Given the description of an element on the screen output the (x, y) to click on. 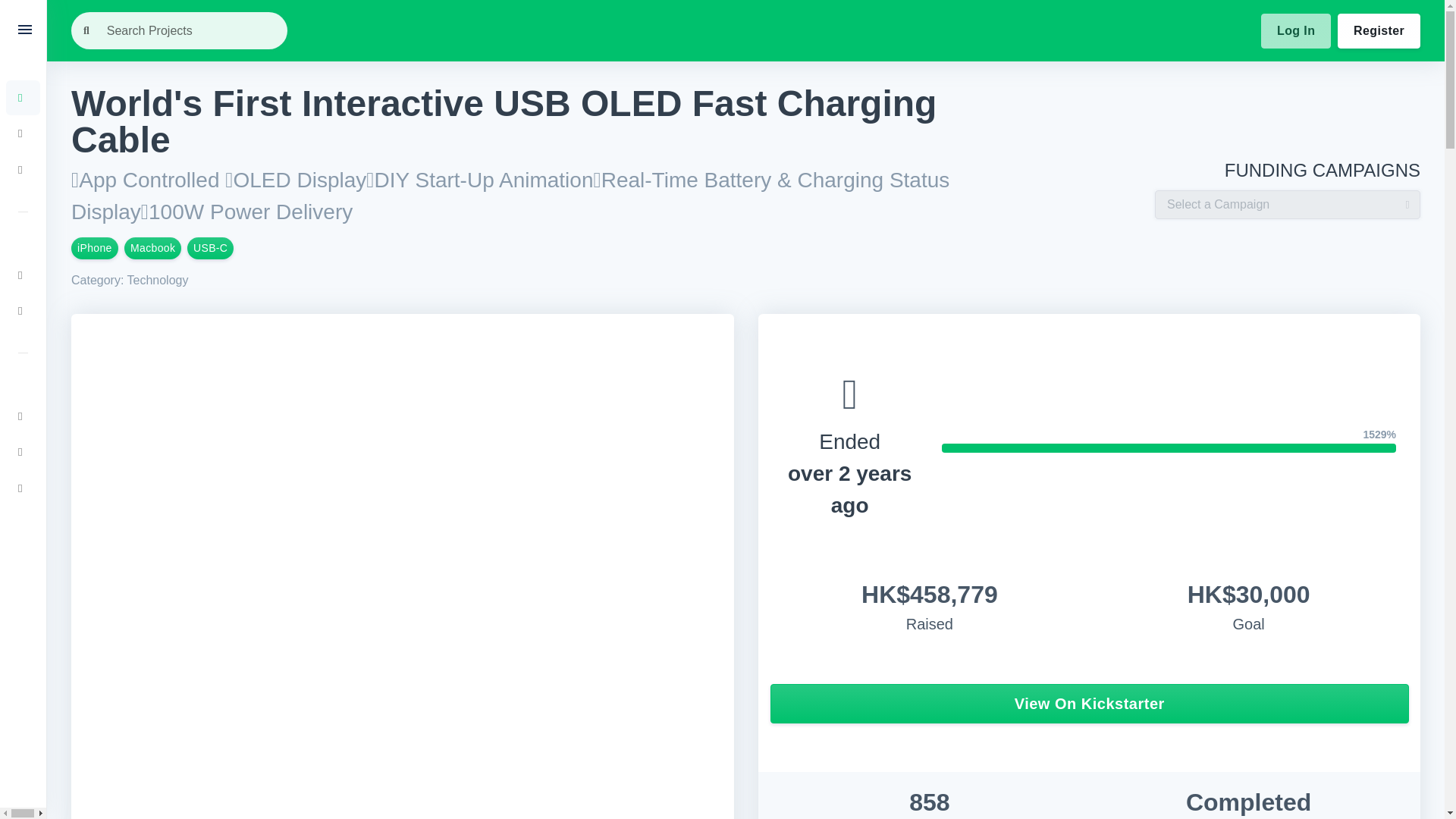
Log In (1295, 30)
Register (1379, 30)
Macbook (151, 248)
View On Kickstarter (1089, 703)
USB-C (209, 248)
iPhone (94, 248)
